Given the description of an element on the screen output the (x, y) to click on. 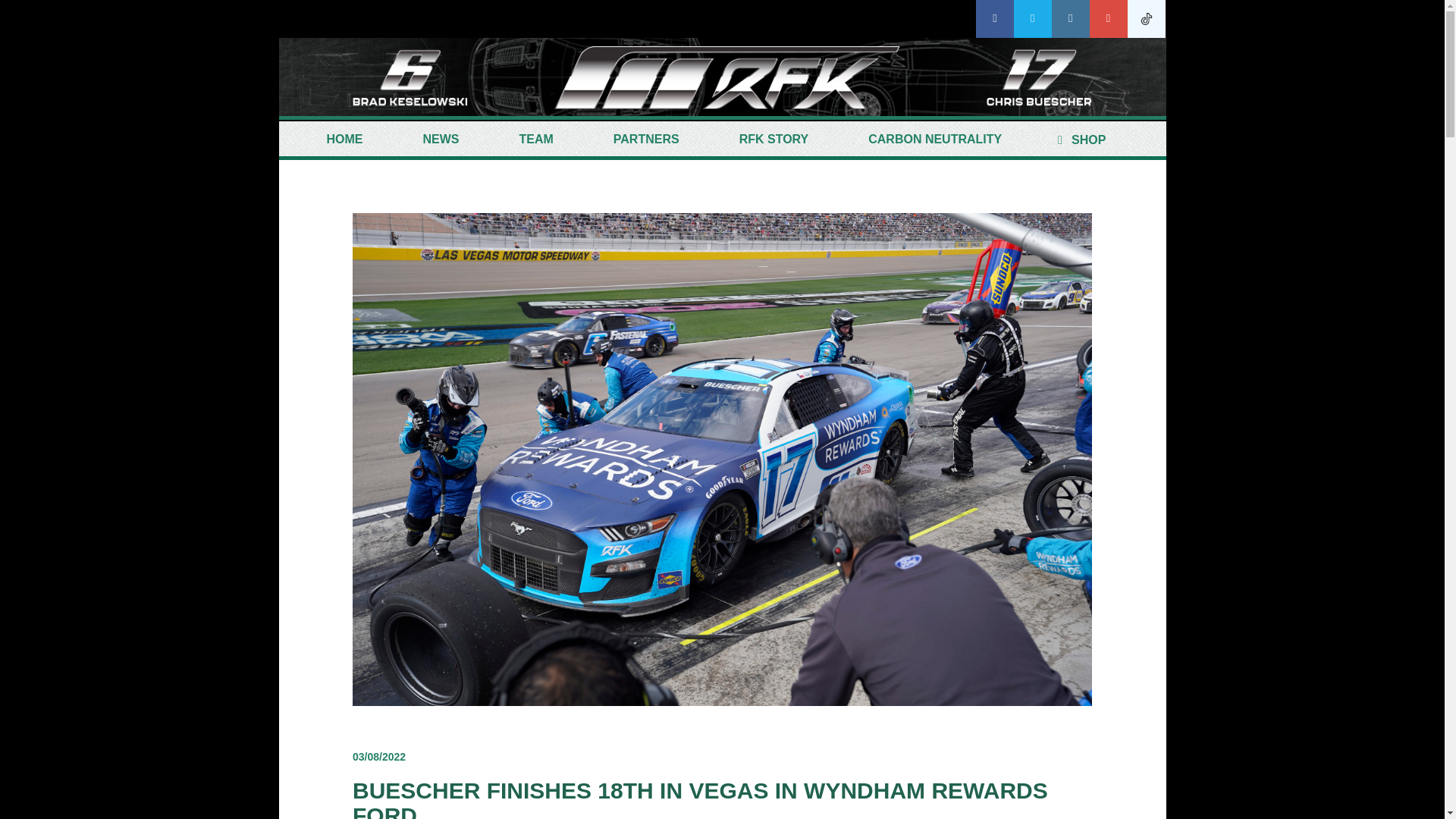
PARTNERS (646, 139)
RFK STORY (773, 139)
HOME (344, 139)
NEWS (440, 139)
CARBON NEUTRALITY (935, 139)
TEAM (536, 139)
SHOP  (1078, 139)
